Given the description of an element on the screen output the (x, y) to click on. 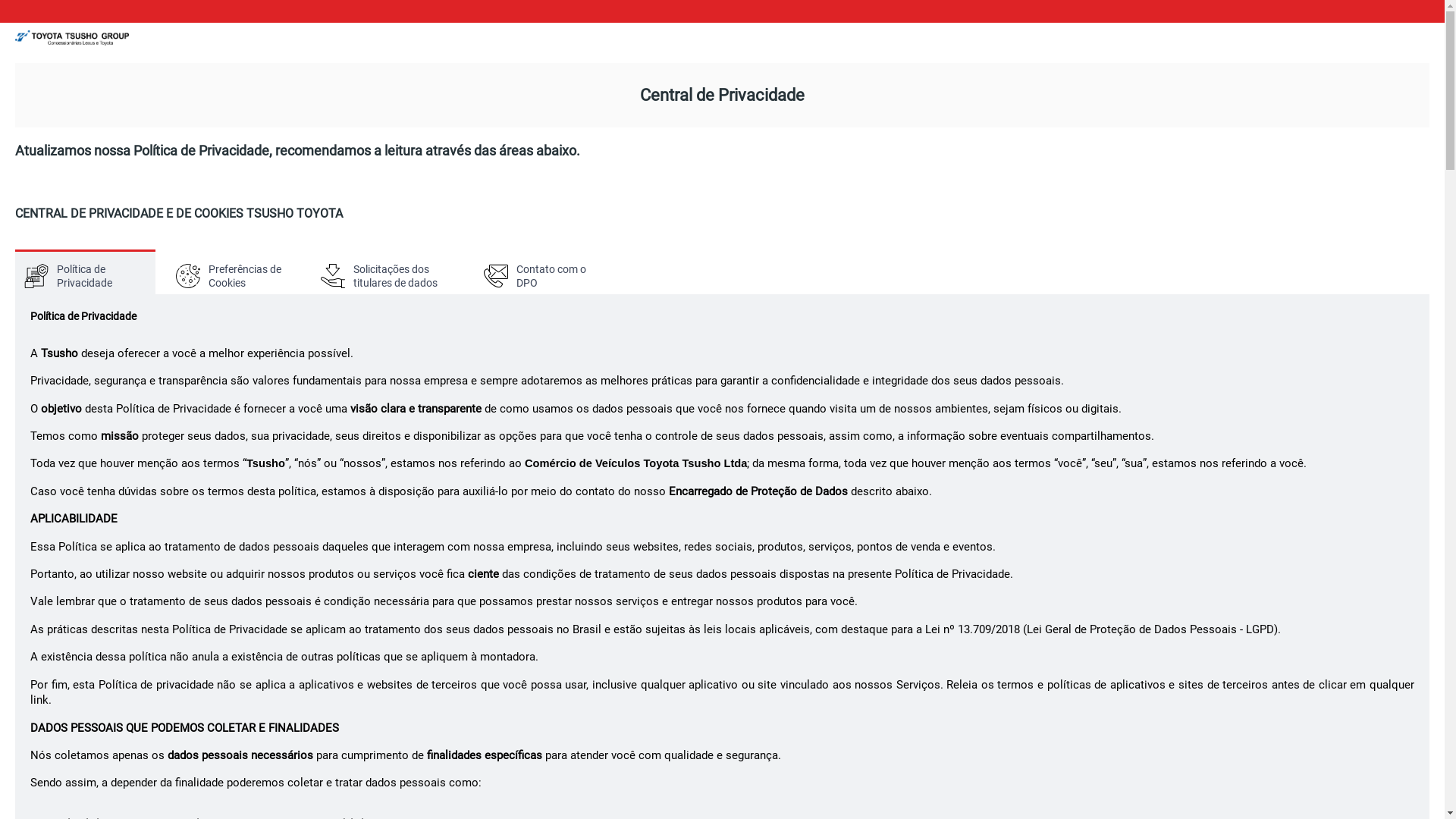
Contato com o DPO Element type: text (544, 271)
